Given the description of an element on the screen output the (x, y) to click on. 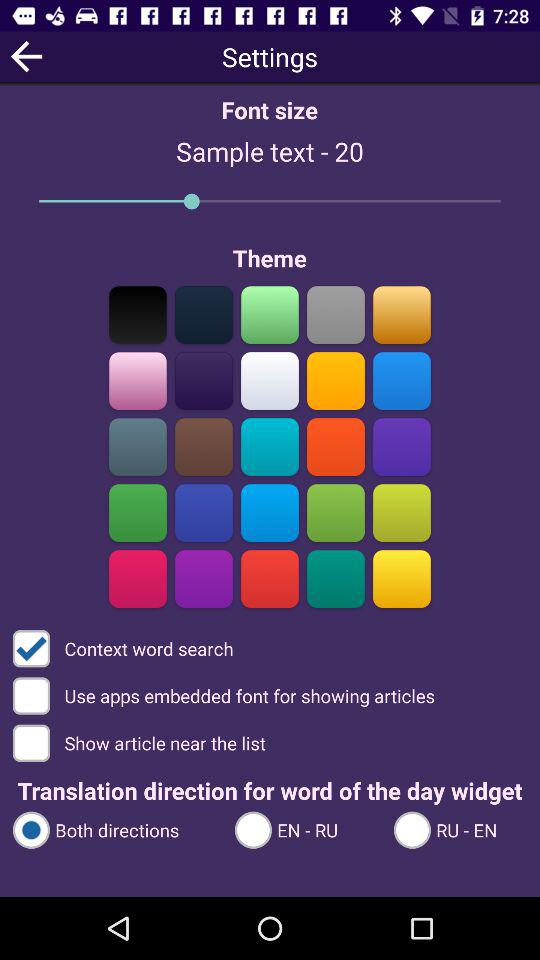
select pale pink theme color (137, 380)
